Given the description of an element on the screen output the (x, y) to click on. 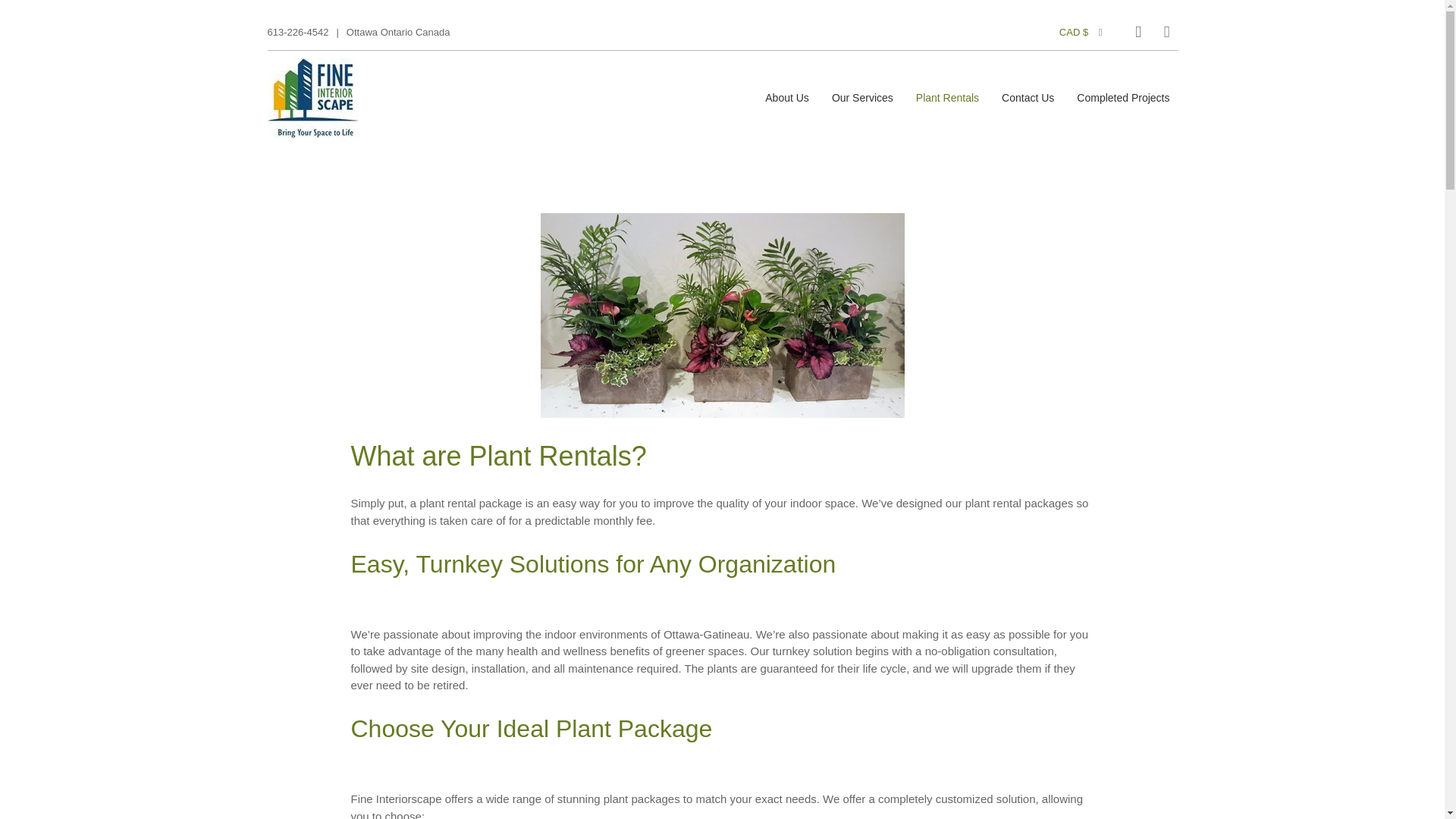
BND (1085, 504)
BDT (1085, 404)
BOB (1085, 538)
AMD (1085, 171)
CHF (1085, 738)
BWP (1085, 604)
CAD (1085, 671)
AUD (1085, 237)
ALL (1085, 137)
ANG (1085, 204)
AED (1085, 70)
AZN (1085, 304)
613-226-4542 (297, 32)
BAM (1085, 337)
AWG (1085, 271)
